Given the description of an element on the screen output the (x, y) to click on. 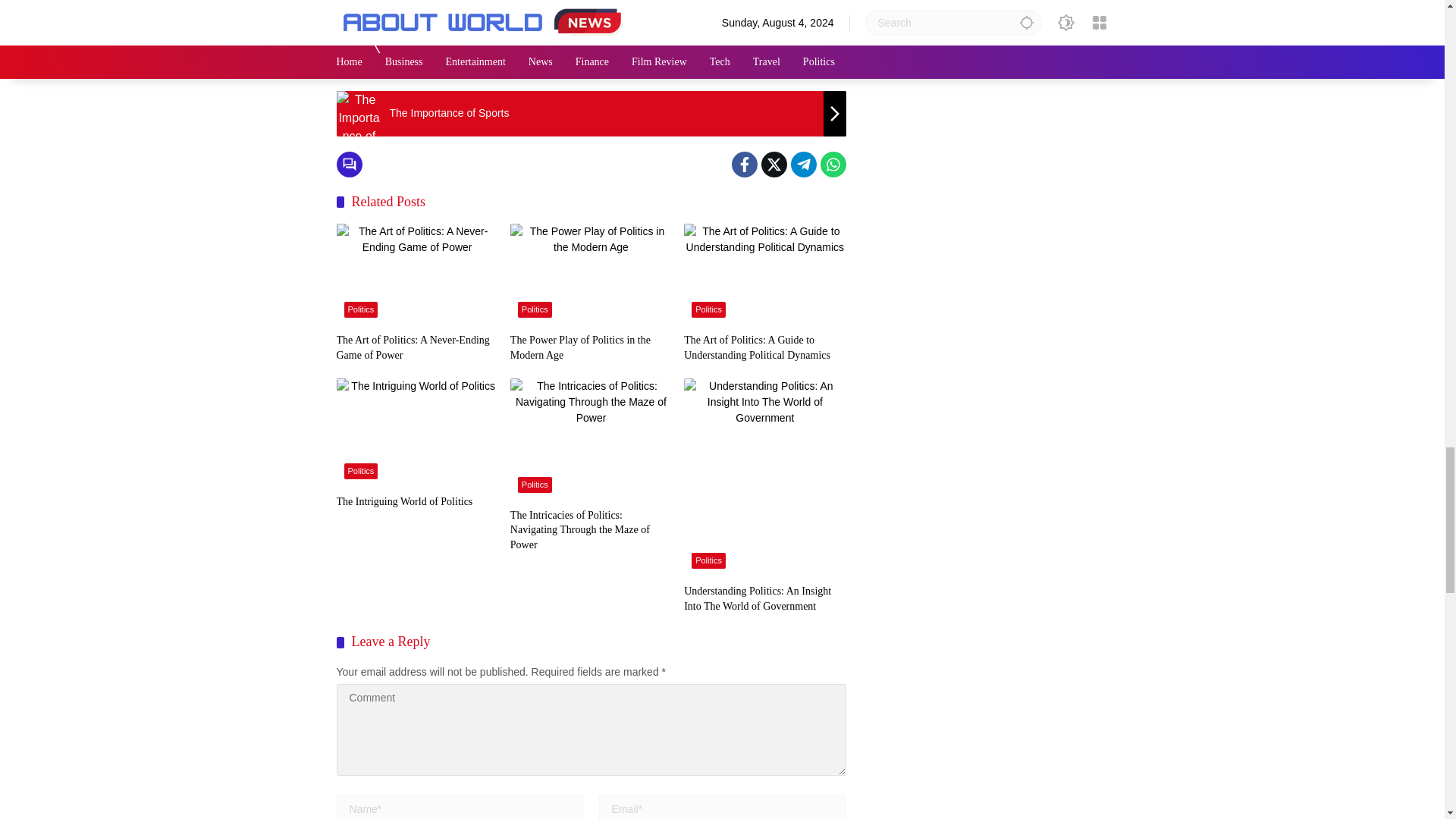
Politics (402, 66)
The Importance of Sports (590, 113)
